Given the description of an element on the screen output the (x, y) to click on. 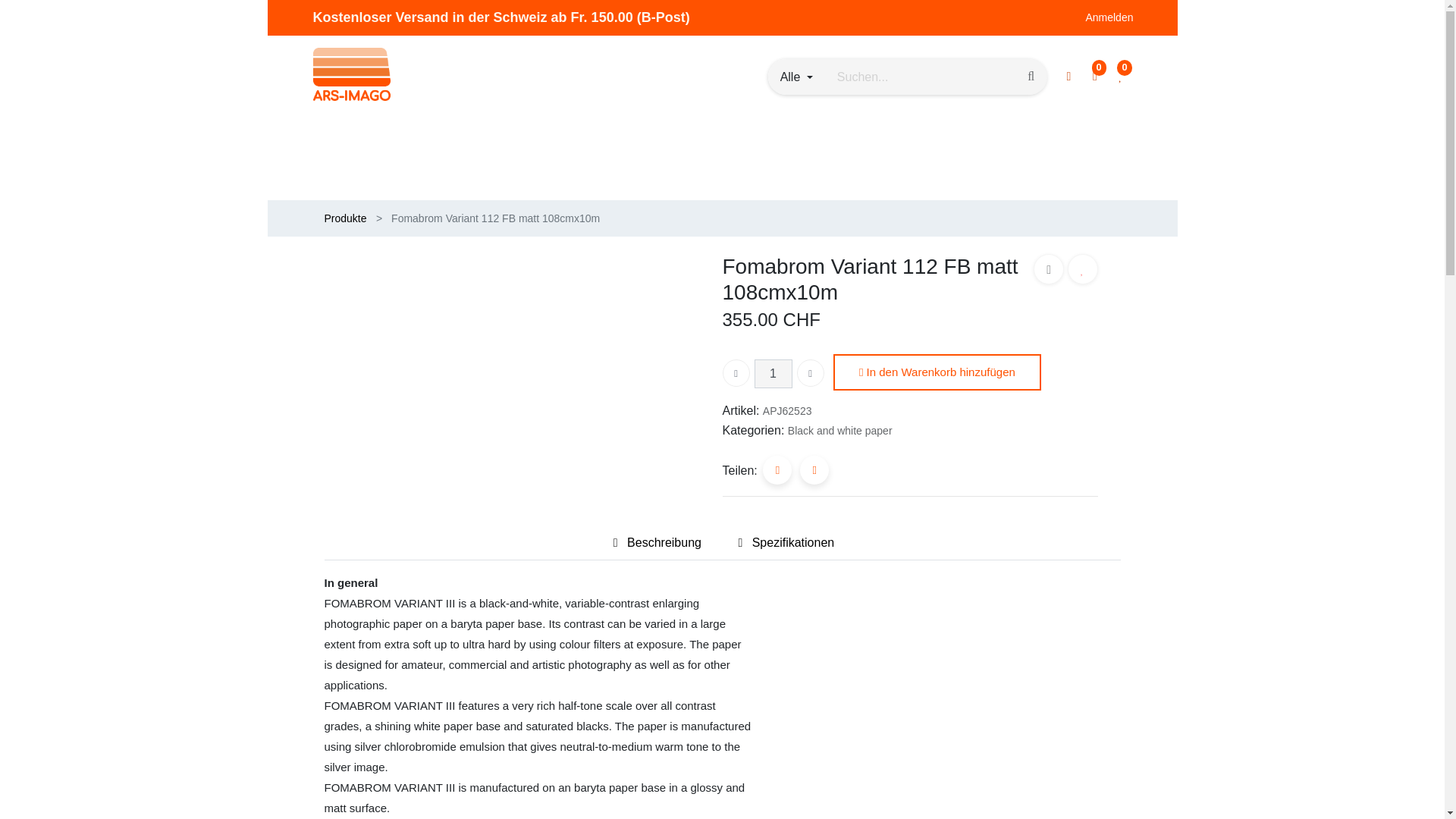
Entfernen (735, 372)
0 (1094, 76)
Alle (796, 76)
0 (1120, 76)
Add to Wishlist (1082, 268)
Compare (1048, 268)
Anmelden (1109, 18)
ars-imago GmbH Website (351, 73)
Suchen (1030, 76)
1 (773, 373)
